Given the description of an element on the screen output the (x, y) to click on. 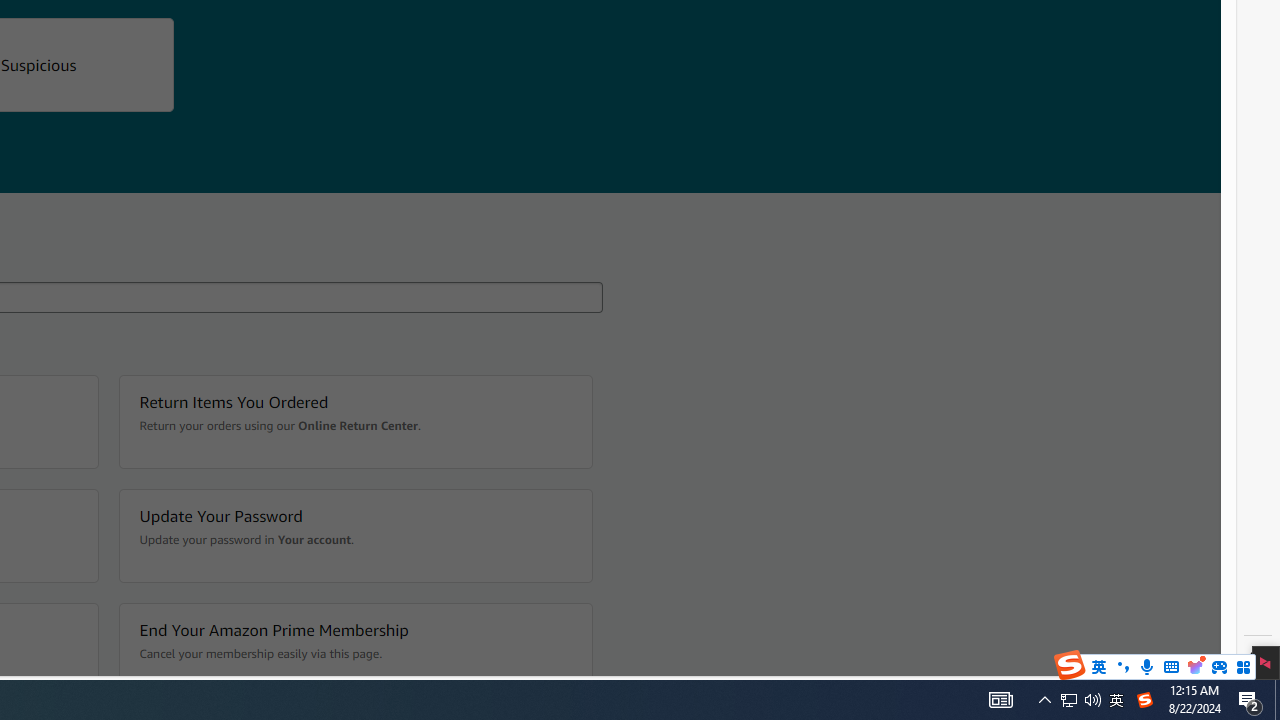
Update Your Password Update your password in Your account. (354, 535)
